Given the description of an element on the screen output the (x, y) to click on. 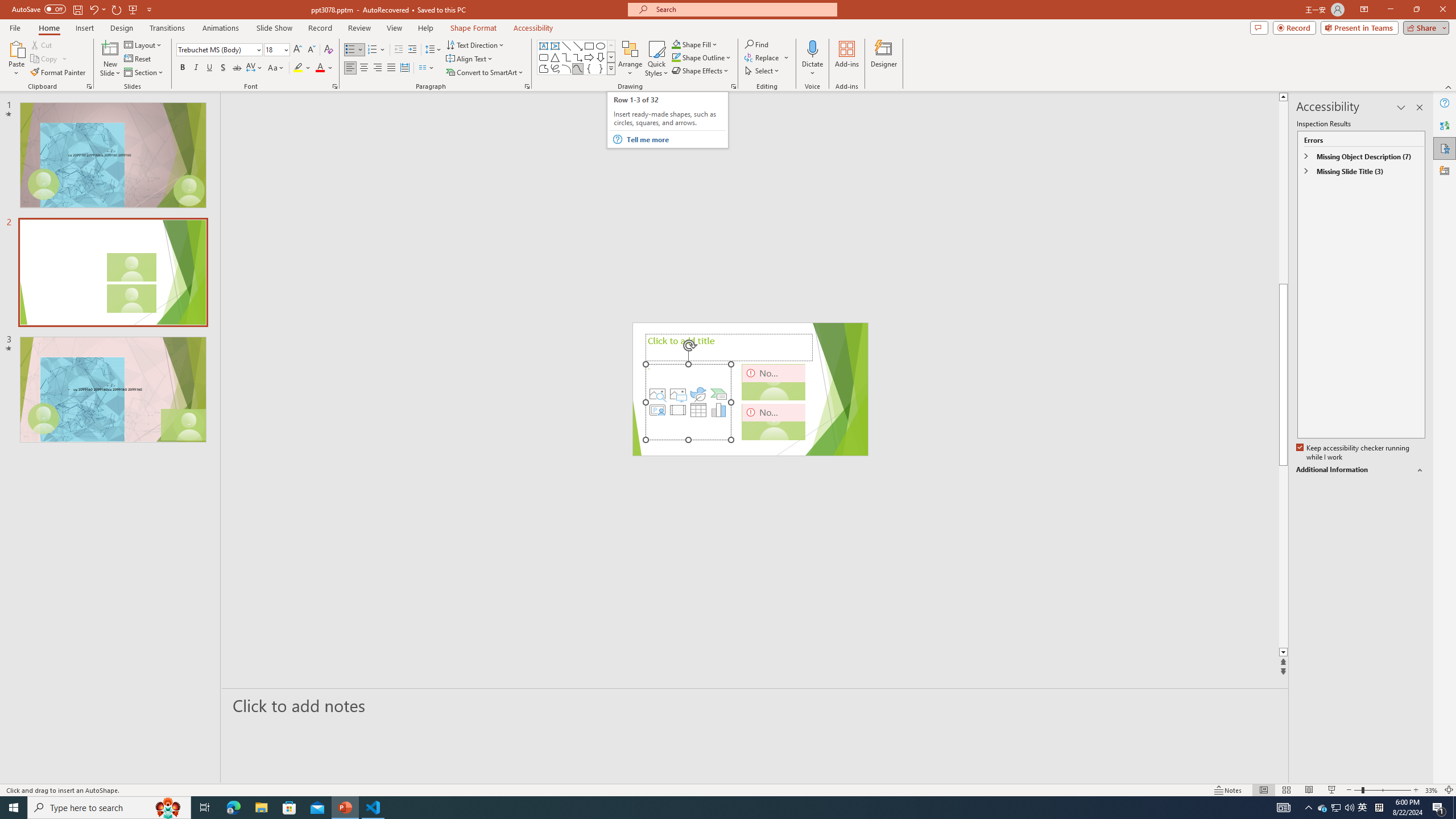
Insert Video (677, 409)
Content Placeholder (688, 401)
